Given the description of an element on the screen output the (x, y) to click on. 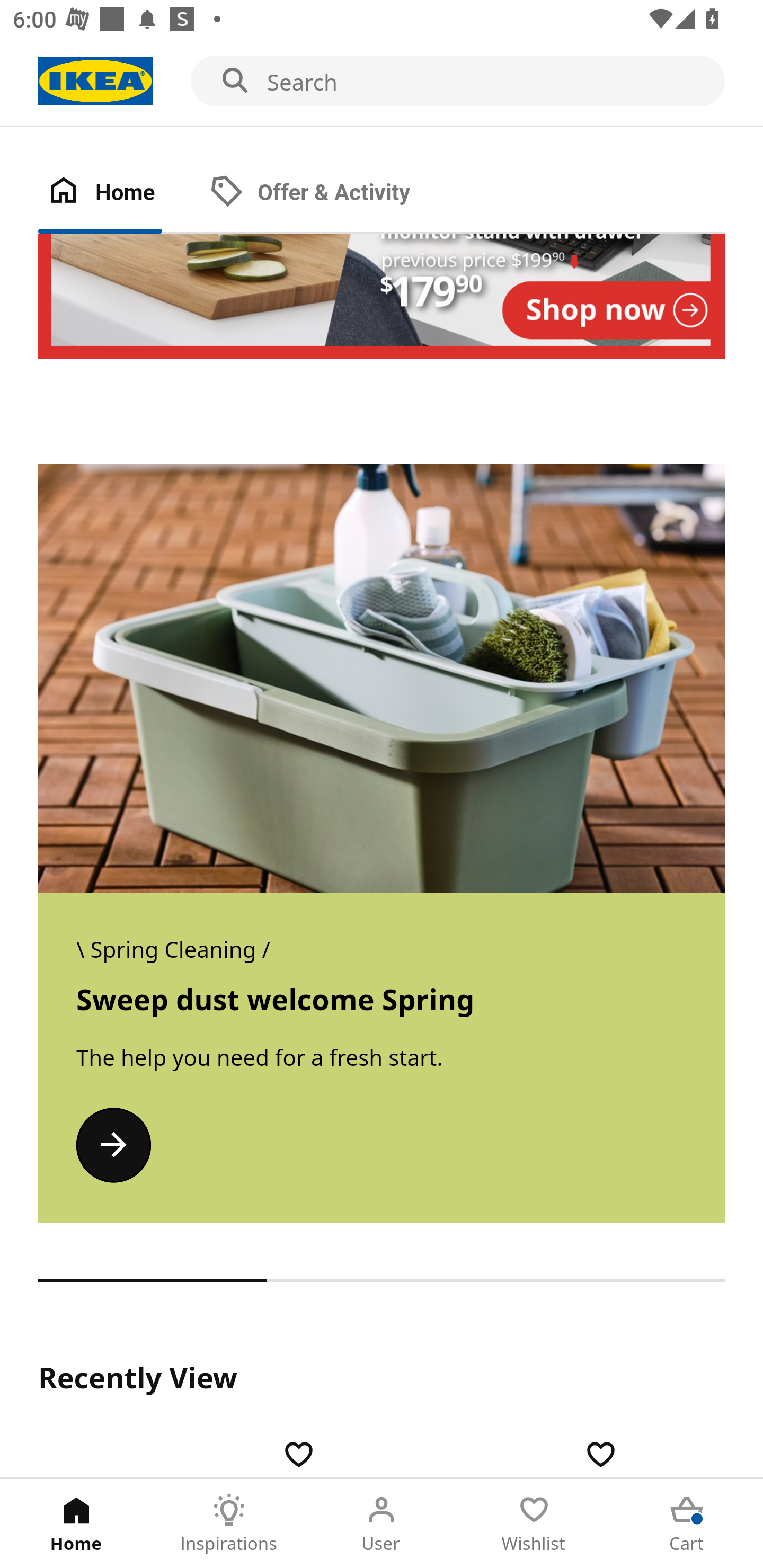
Search (381, 81)
Home
Tab 1 of 2 (118, 192)
Offer & Activity
Tab 2 of 2 (327, 192)
Home
Tab 1 of 5 (76, 1522)
Inspirations
Tab 2 of 5 (228, 1522)
User
Tab 3 of 5 (381, 1522)
Wishlist
Tab 4 of 5 (533, 1522)
Cart
Tab 5 of 5 (686, 1522)
